Given the description of an element on the screen output the (x, y) to click on. 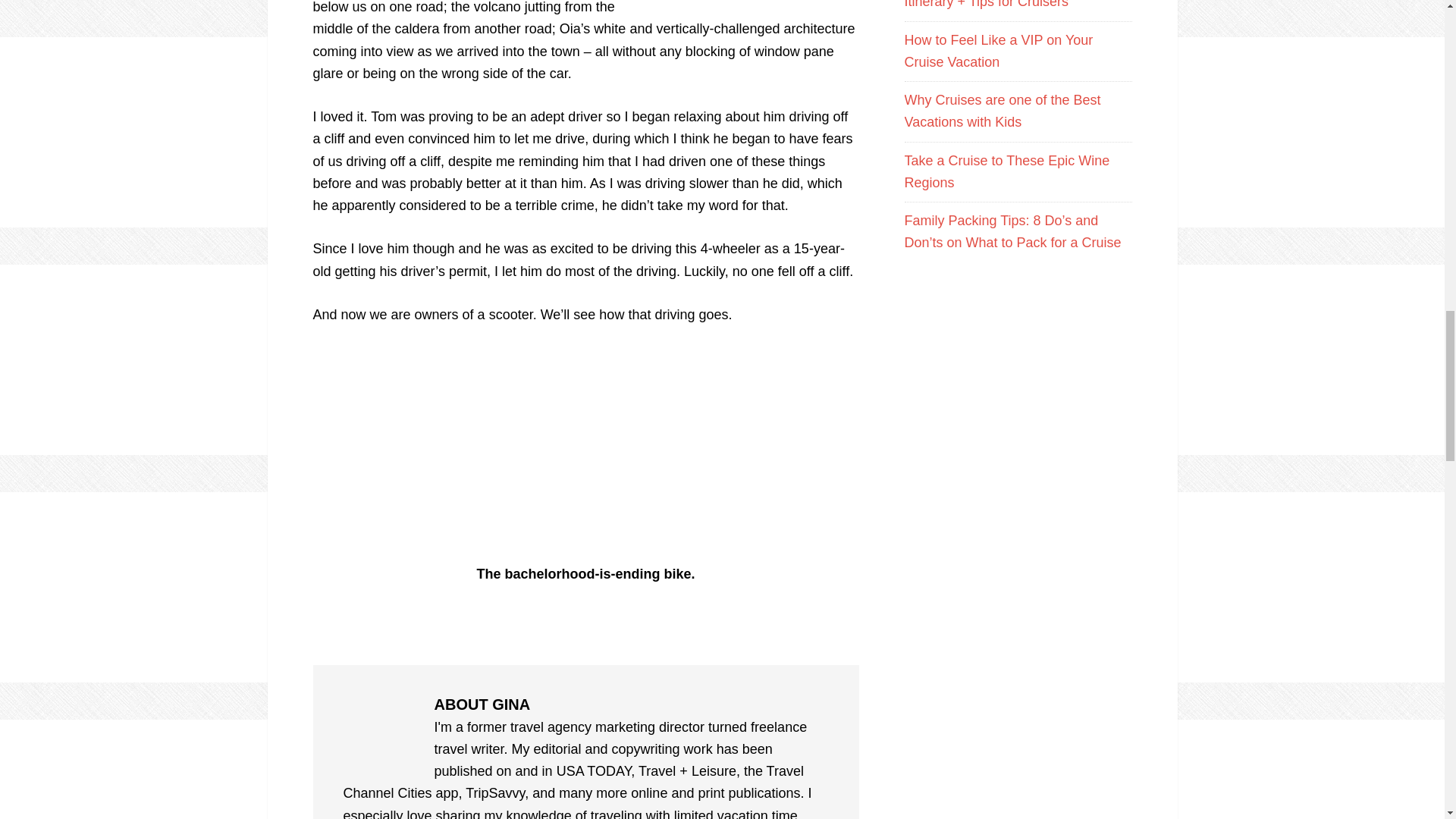
scooter (584, 451)
